Given the description of an element on the screen output the (x, y) to click on. 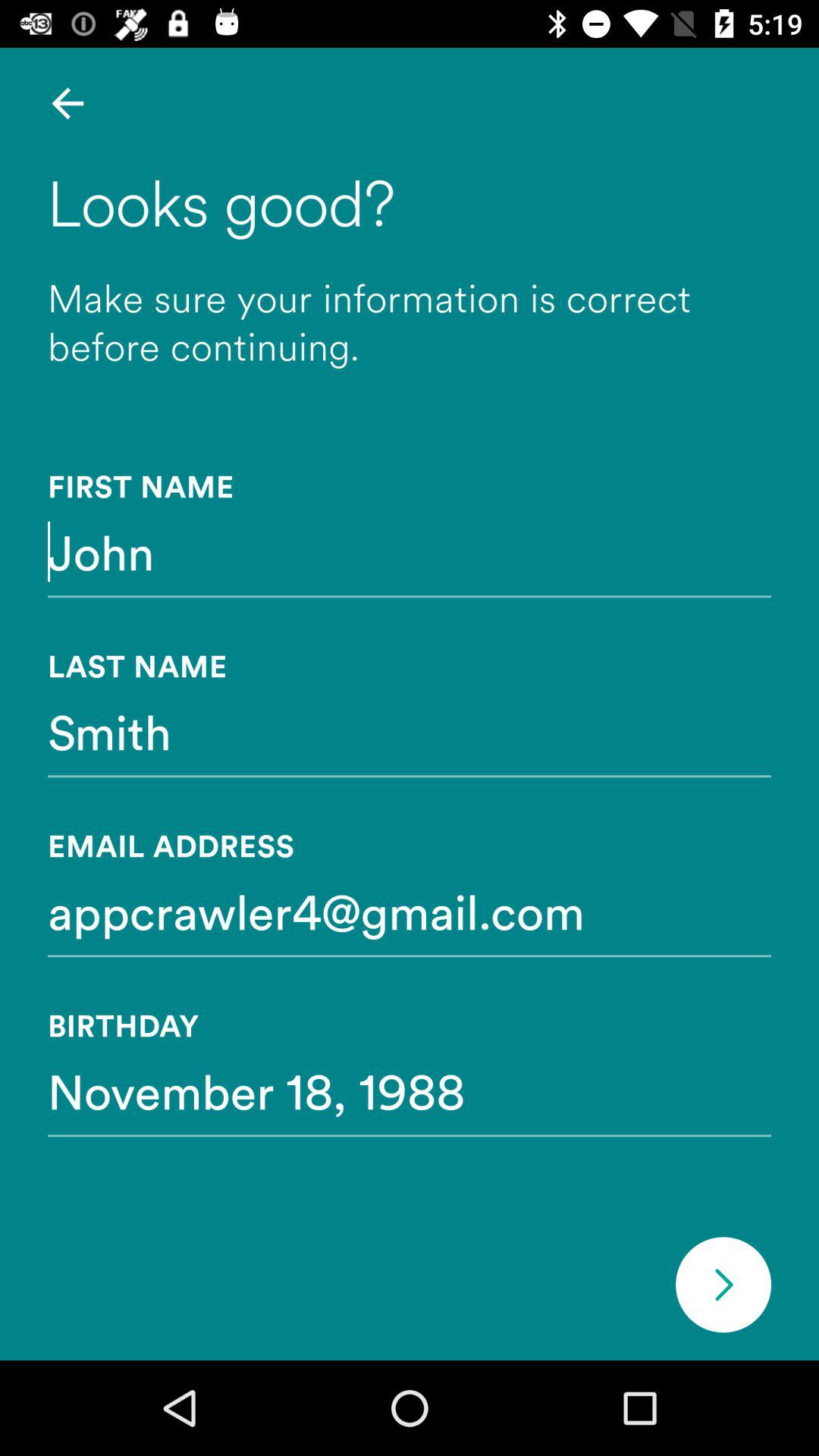
click icon below the email address item (409, 911)
